Given the description of an element on the screen output the (x, y) to click on. 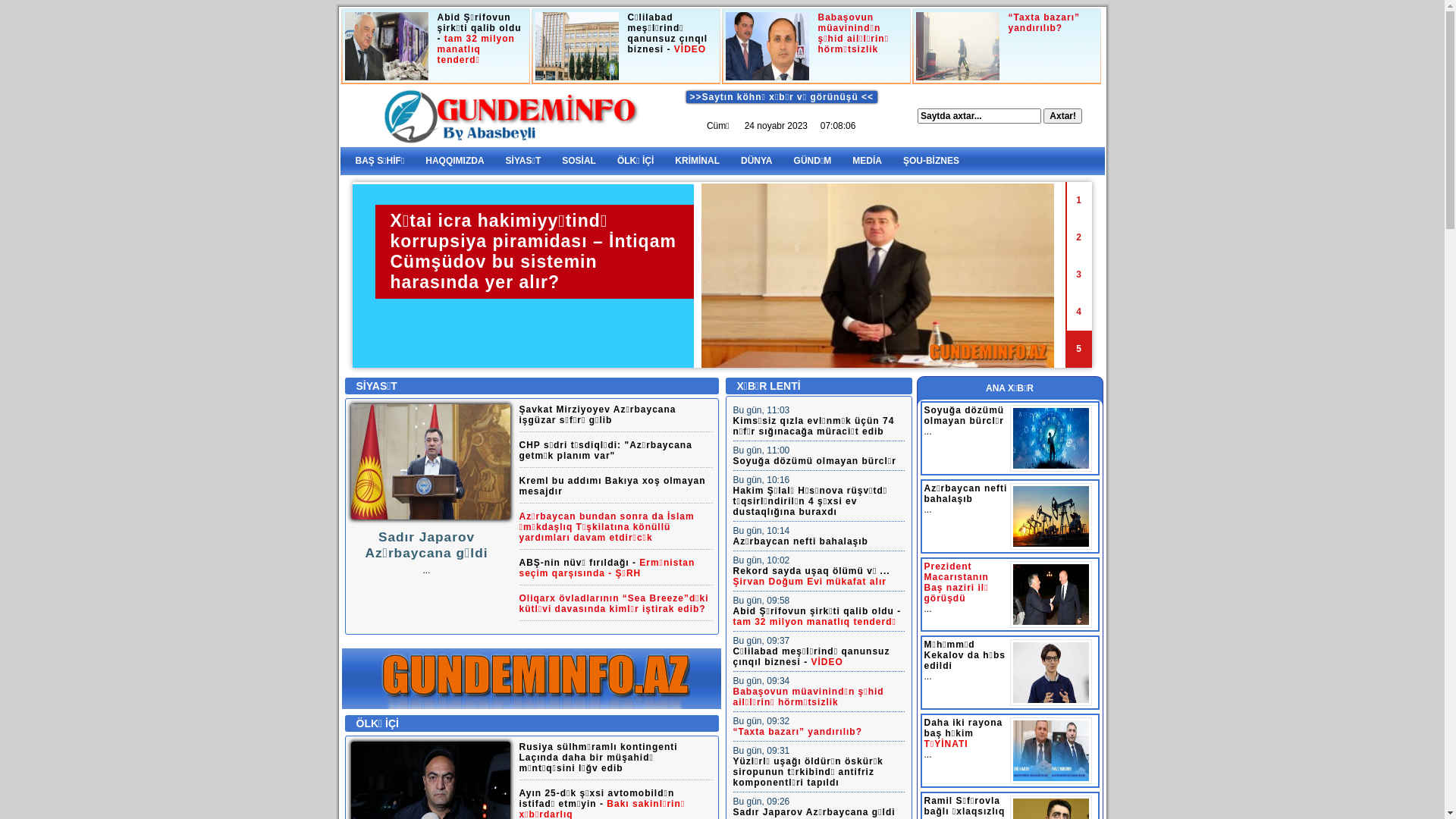
HAQQIMIZDA Element type: text (454, 160)
4 Element type: text (1078, 311)
Axtar! Element type: text (1062, 114)
3 Element type: text (1078, 274)
1 Element type: text (1078, 200)
2 Element type: text (1078, 237)
Saytda axtar... Element type: hover (979, 114)
5 Element type: text (1078, 348)
